Given the description of an element on the screen output the (x, y) to click on. 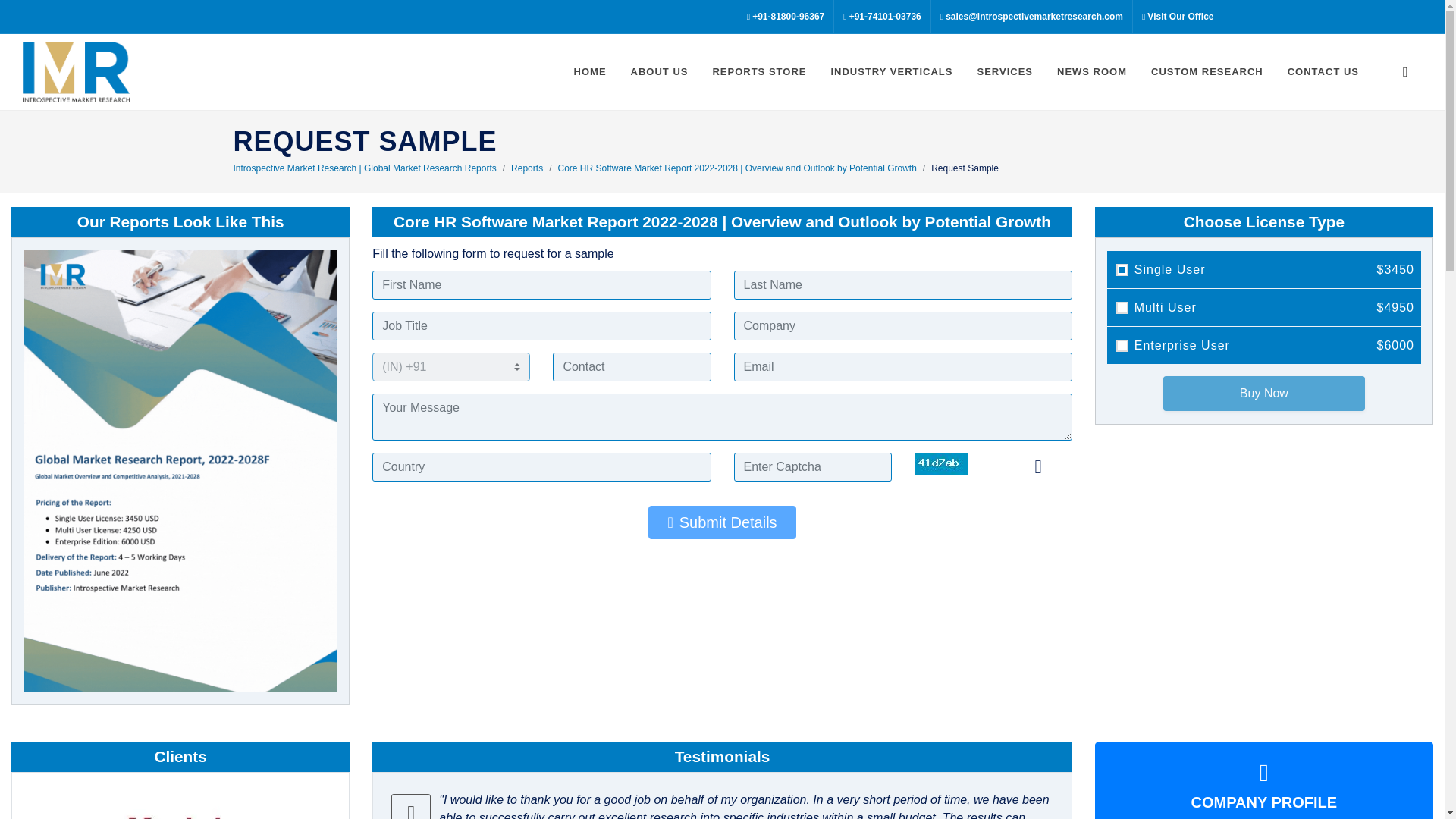
SERVICES (1004, 71)
Visit Our Office (1177, 16)
ABOUT US (660, 71)
INDUSTRY VERTICALS (890, 71)
REPORTS STORE (758, 71)
